Given the description of an element on the screen output the (x, y) to click on. 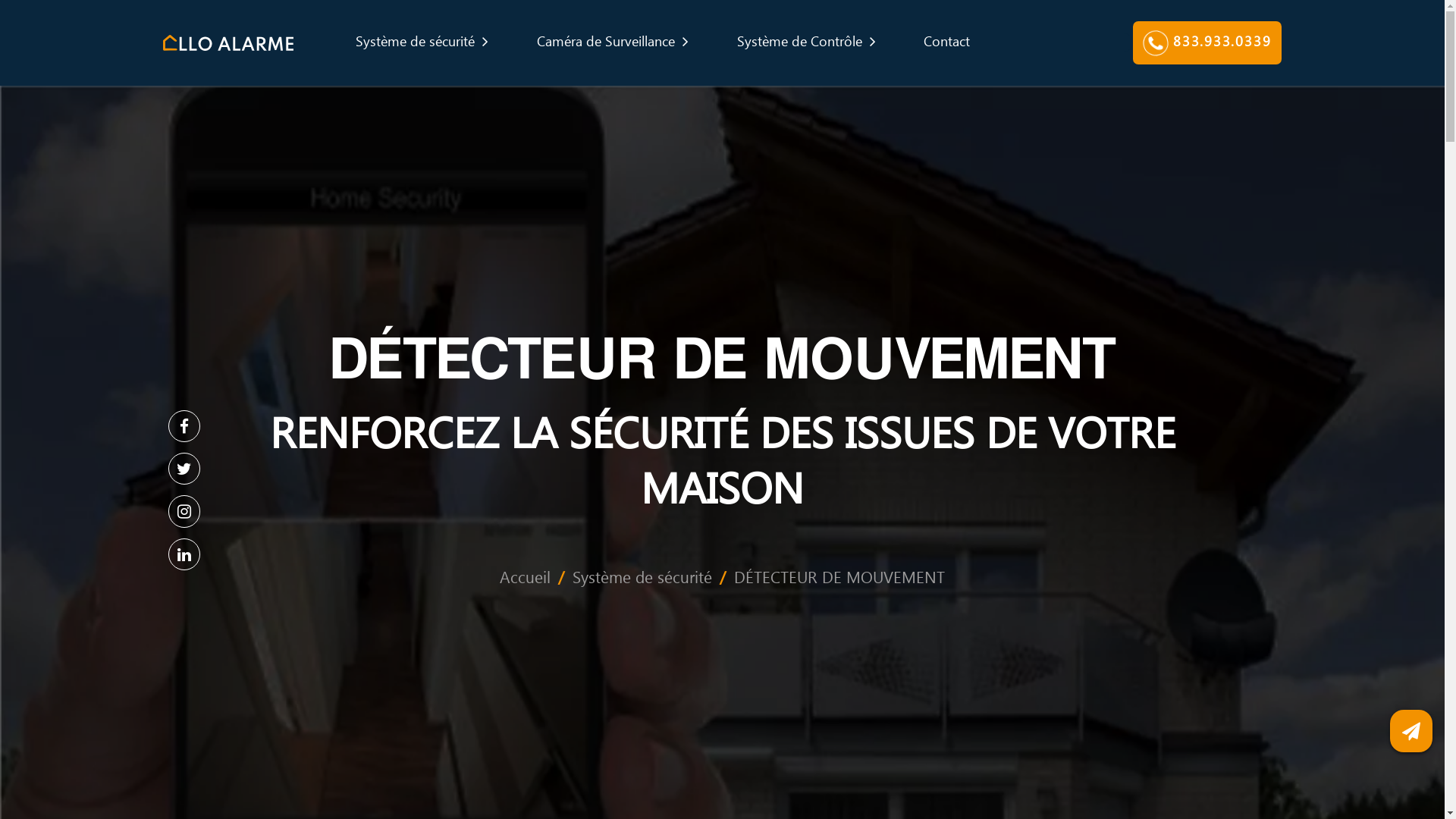
833.933.0339 Element type: text (470, 790)
Consulter un expert Element type: hover (1411, 730)
833.933.0339 Element type: text (684, 24)
Contact Element type: text (537, 23)
Accueil Element type: text (297, 327)
